Given the description of an element on the screen output the (x, y) to click on. 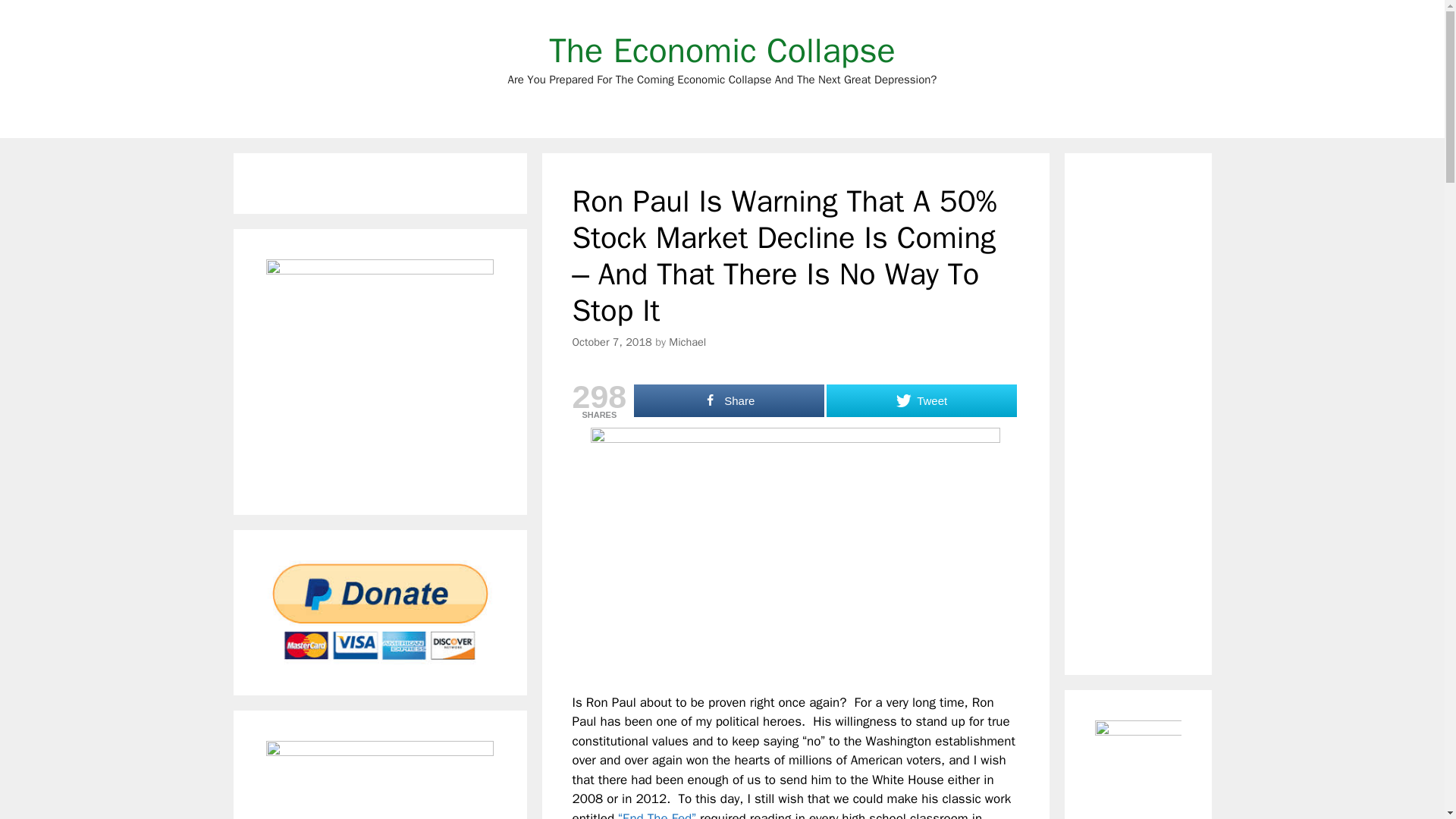
Tweet (921, 400)
Michael (687, 341)
Share (728, 400)
View all posts by Michael (687, 341)
9:02 pm (611, 341)
The Economic Collapse (721, 50)
October 7, 2018 (611, 341)
